Given the description of an element on the screen output the (x, y) to click on. 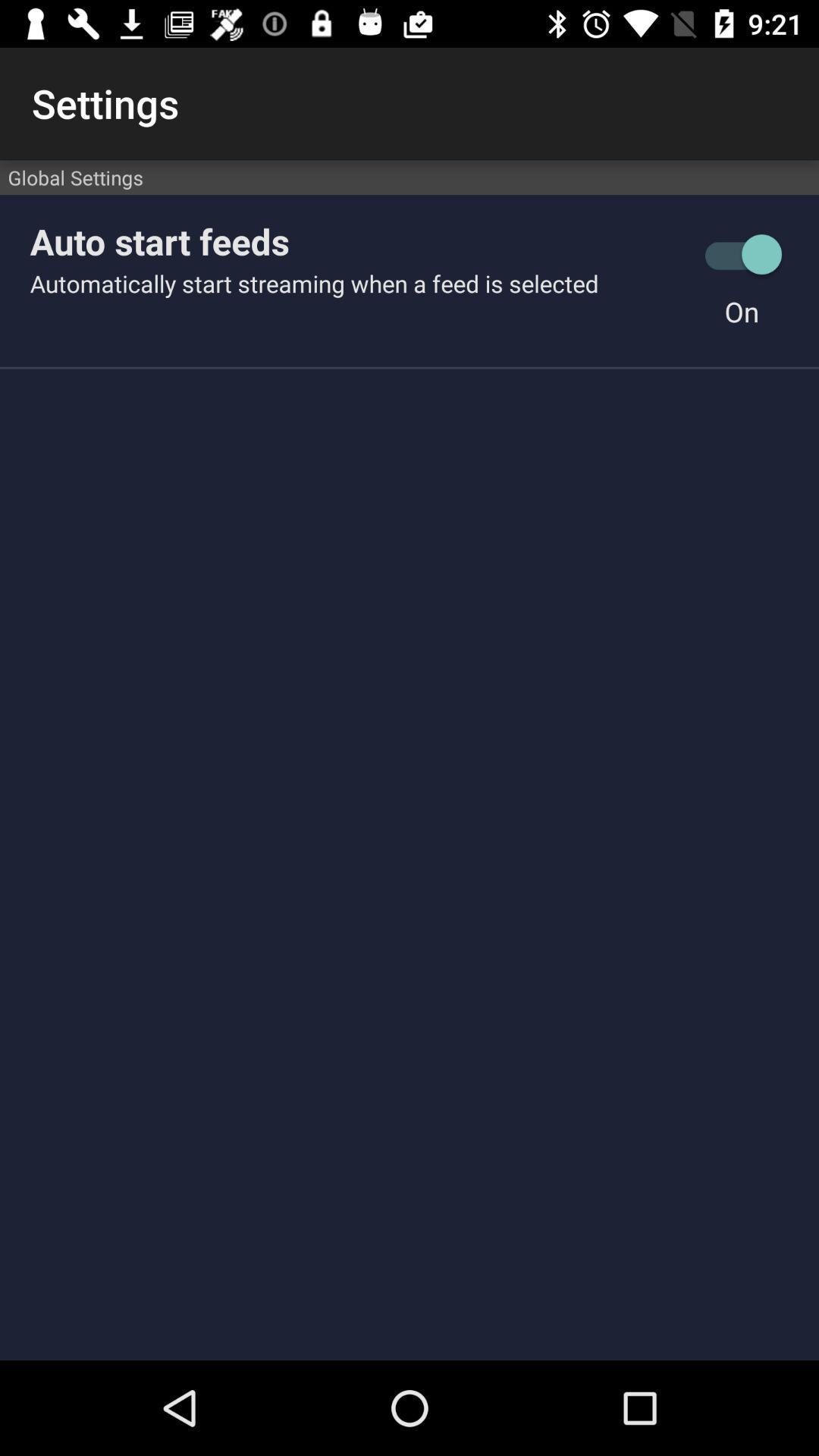
launch icon next to the automatically start streaming item (741, 311)
